Given the description of an element on the screen output the (x, y) to click on. 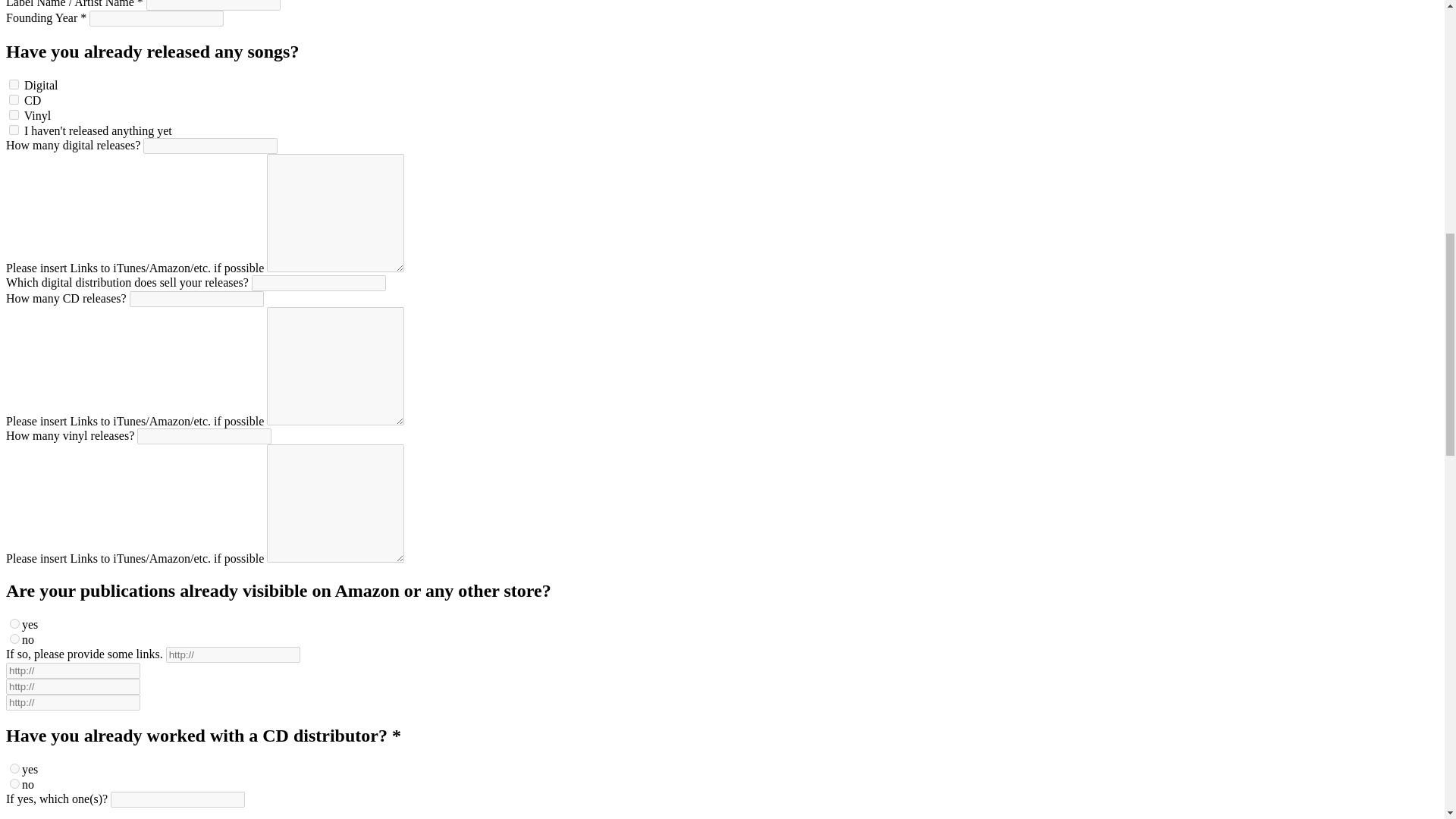
on (13, 114)
true (13, 130)
on (13, 84)
on (15, 767)
on (13, 99)
on (15, 782)
yes (15, 623)
no (15, 638)
